Given the description of an element on the screen output the (x, y) to click on. 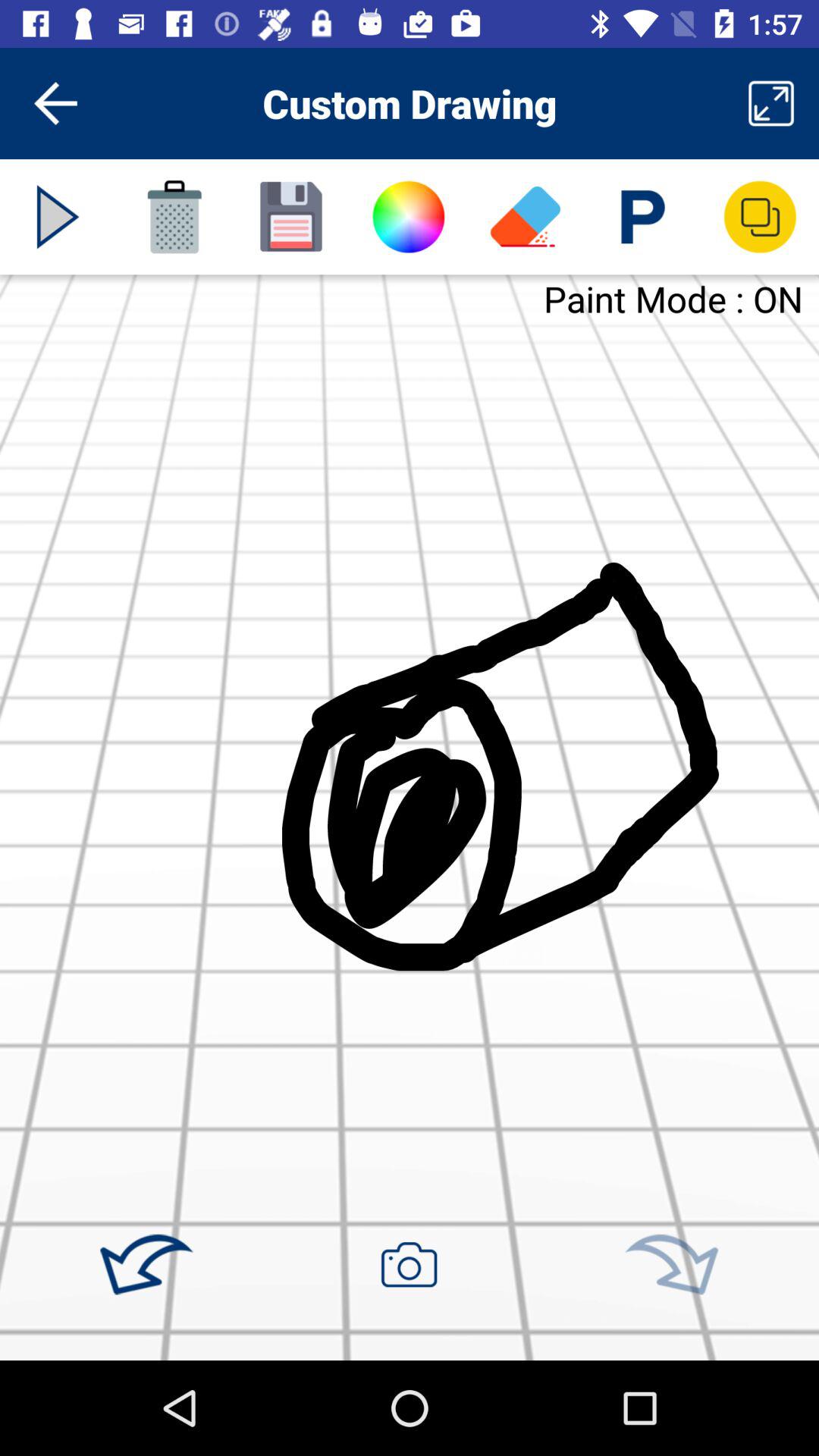
launch icon at the bottom right corner (671, 1264)
